Given the description of an element on the screen output the (x, y) to click on. 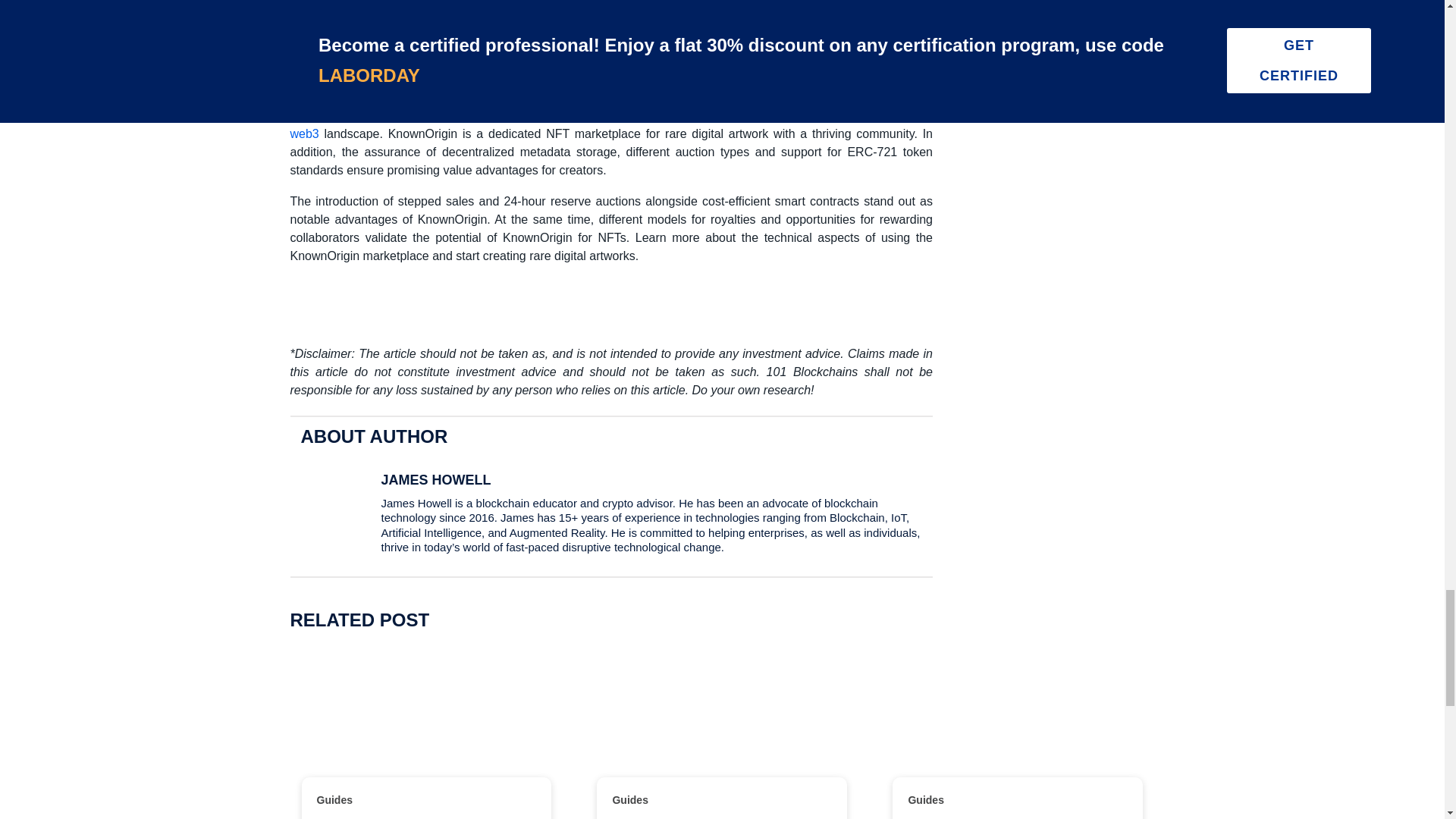
An Ultimate List of Bitcoin Forks (722, 723)
Posts by James Howell (435, 479)
Know Everything About Solana Program Library (425, 723)
